Given the description of an element on the screen output the (x, y) to click on. 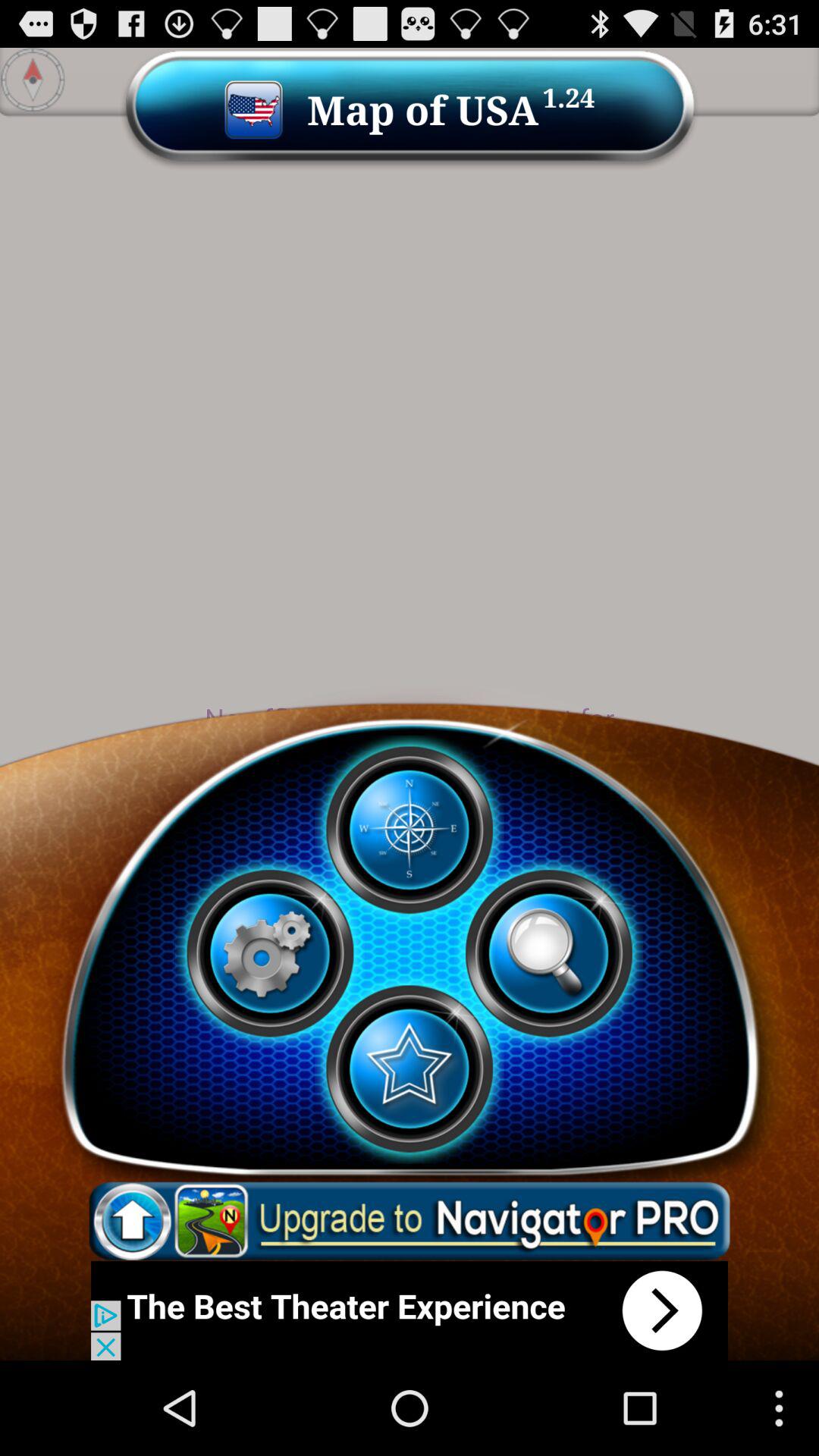
serach (548, 953)
